Given the description of an element on the screen output the (x, y) to click on. 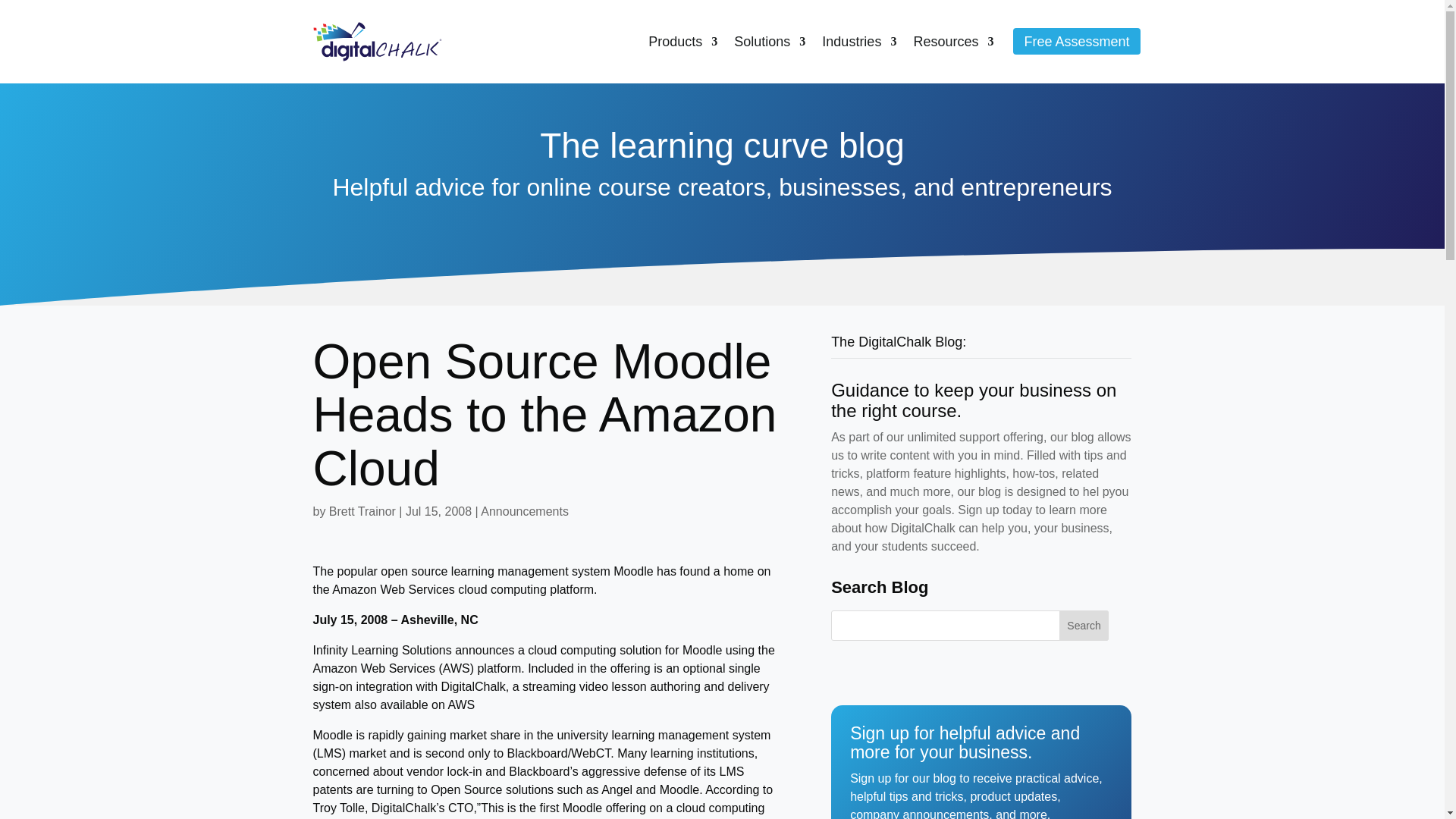
Posts by Brett Trainor (362, 511)
Products (682, 41)
Industries (859, 41)
Solutions (769, 41)
Free Assessment (1076, 40)
Search (1084, 625)
Resources (952, 41)
